Given the description of an element on the screen output the (x, y) to click on. 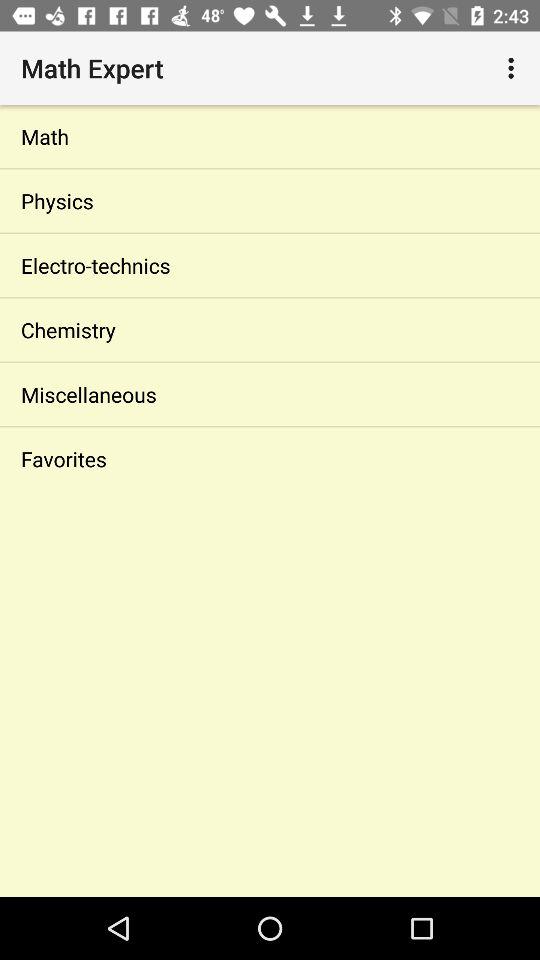
turn on the icon below miscellaneous icon (270, 458)
